Given the description of an element on the screen output the (x, y) to click on. 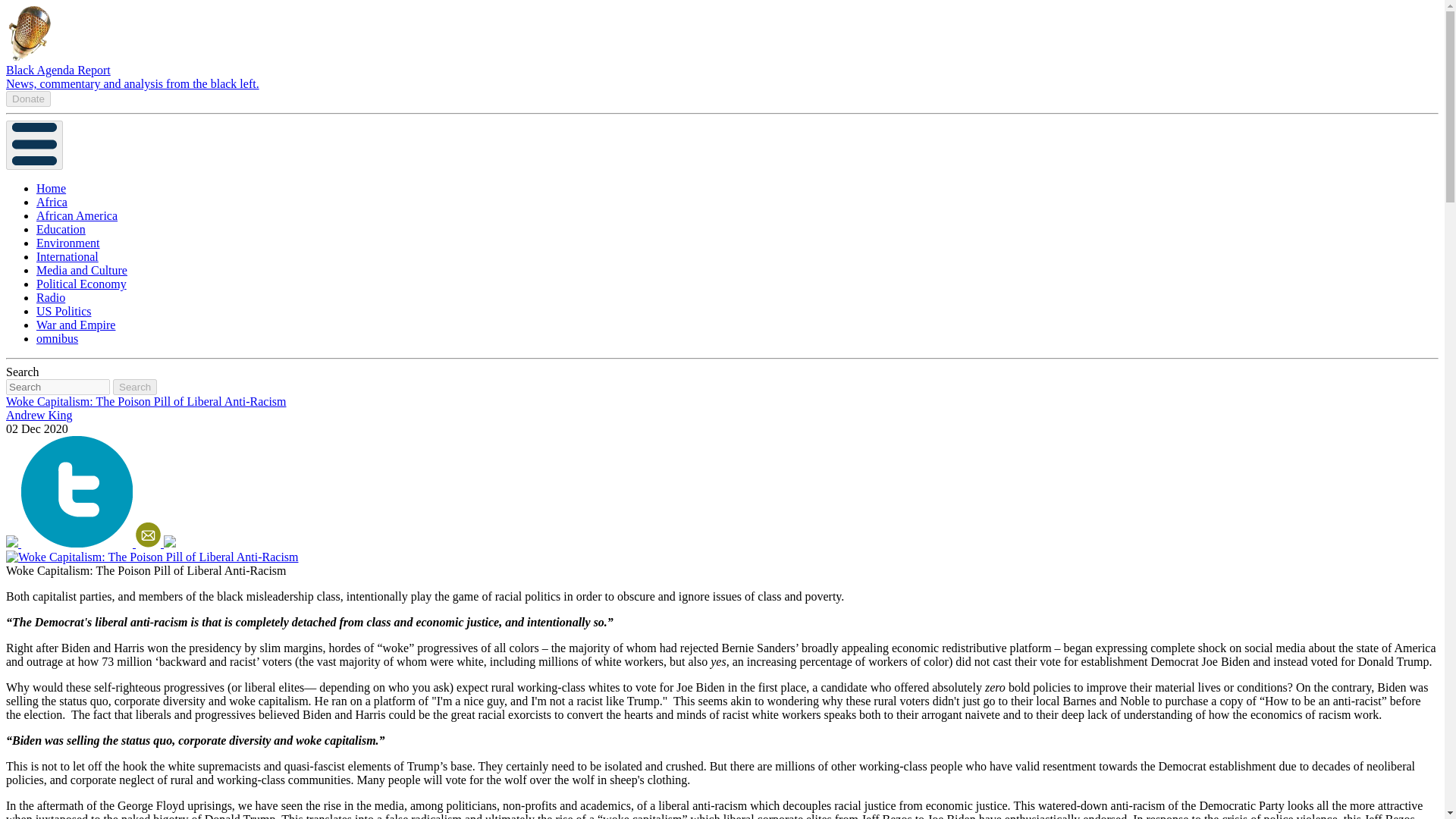
Andrew King (38, 414)
Woke Capitalism: The Poison Pill of Liberal Anti-Racism (151, 556)
Woke Capitalism: The Poison Pill of Liberal Anti-Racism (145, 400)
Political Economy (81, 283)
War and Empire (75, 324)
omnibus (57, 338)
Donate (27, 97)
Radio (50, 297)
Home (50, 187)
Education (60, 228)
Search (135, 386)
African America (76, 215)
Media and Culture (82, 269)
International (67, 256)
Africa (51, 201)
